Given the description of an element on the screen output the (x, y) to click on. 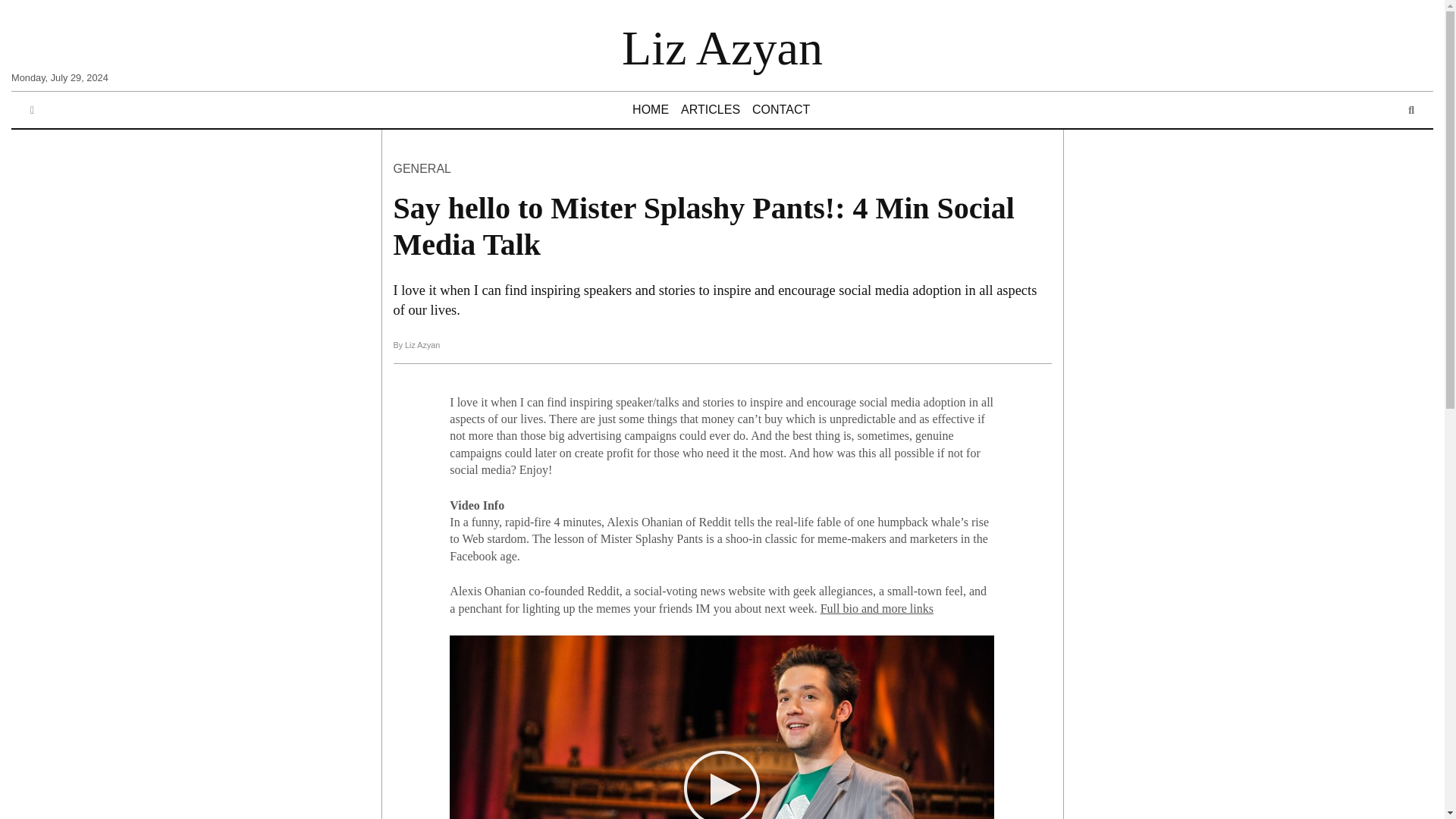
Liz Azyan (721, 48)
HOME (650, 110)
Full bio and more links (877, 608)
ARTICLES (710, 110)
CONTACT (780, 110)
GENERAL (421, 168)
ARTICLES (710, 110)
HOME (650, 110)
CONTACT (780, 110)
